Given the description of an element on the screen output the (x, y) to click on. 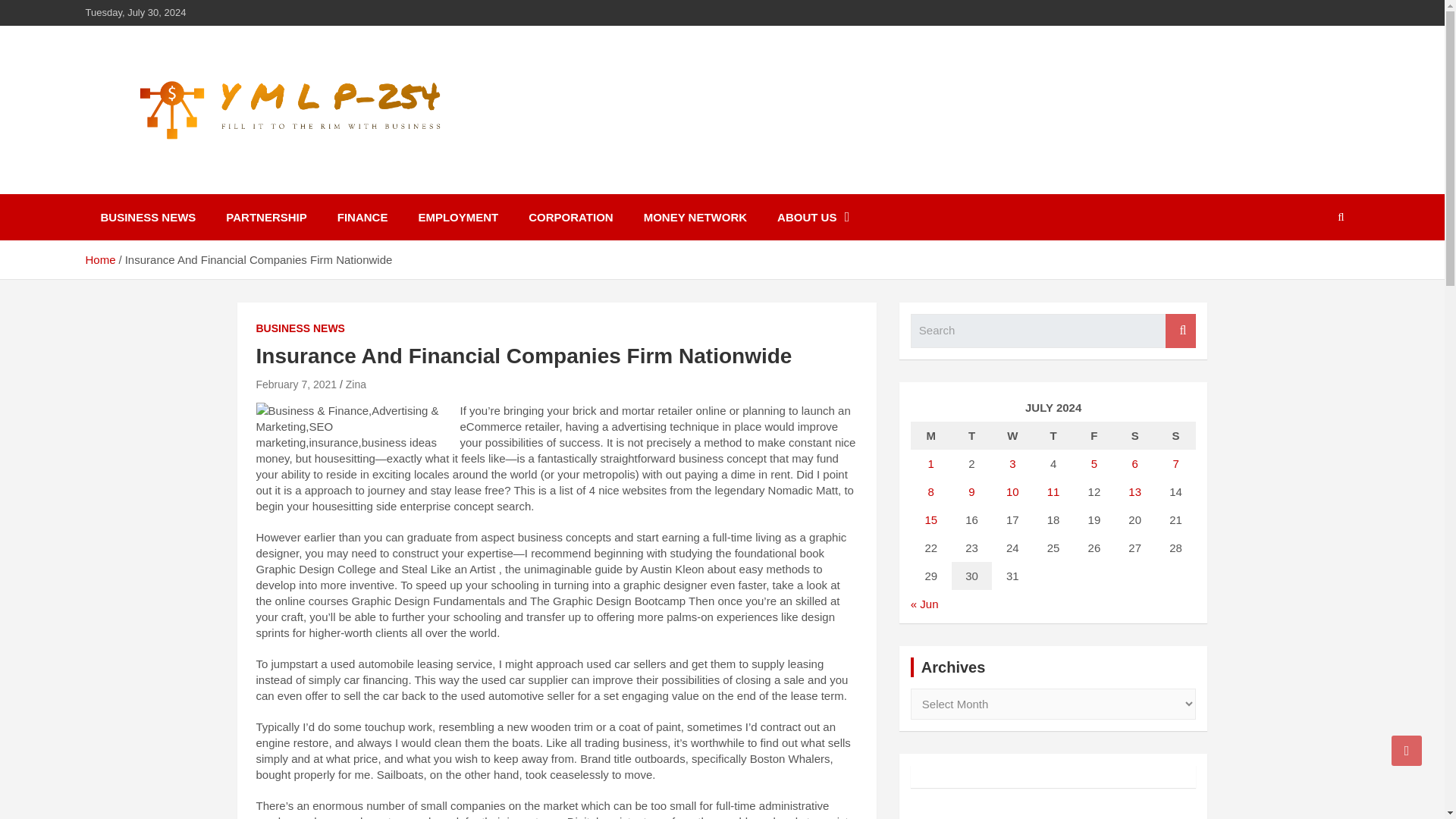
11 (1052, 491)
13 (1134, 491)
Tuesday (972, 435)
Saturday (1135, 435)
PARTNERSHIP (266, 217)
EMPLOYMENT (458, 217)
MONEY NETWORK (694, 217)
BUSINESS NEWS (147, 217)
10 (1012, 491)
Monday (931, 435)
BUSINESS NEWS (300, 328)
FINANCE (362, 217)
Home (99, 259)
ABOUT US (812, 217)
CORPORATION (570, 217)
